Given the description of an element on the screen output the (x, y) to click on. 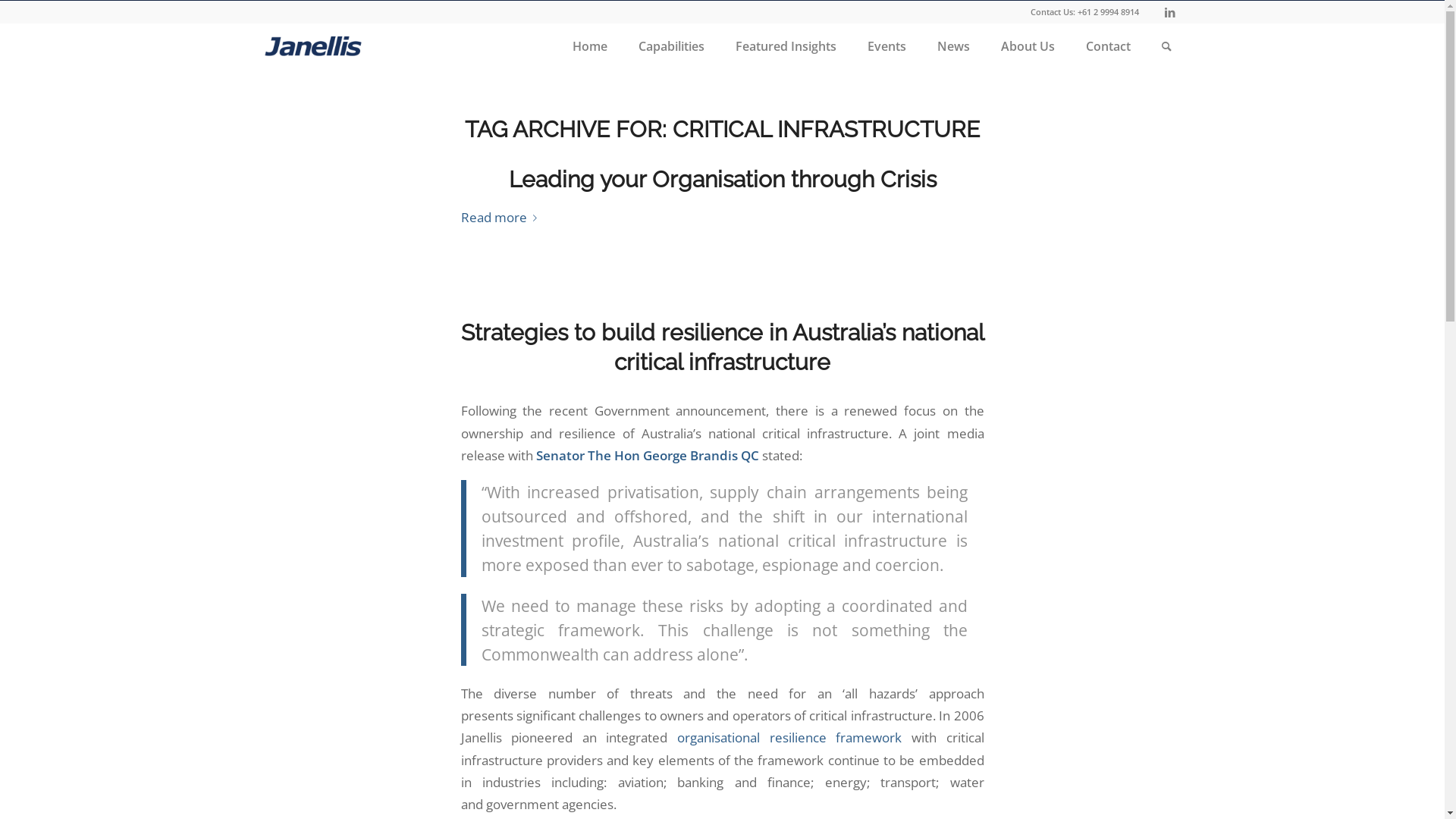
Contact Element type: text (1107, 46)
Capabilities Element type: text (670, 46)
LinkedIn Element type: hover (1169, 11)
Events Element type: text (885, 46)
organisational resilience framework Element type: text (789, 737)
About Us Element type: text (1026, 46)
Home Element type: text (589, 46)
Leading your Organisation through Crisis Element type: text (721, 179)
News Element type: text (952, 46)
Featured Insights Element type: text (784, 46)
Read more Element type: text (501, 217)
